Given the description of an element on the screen output the (x, y) to click on. 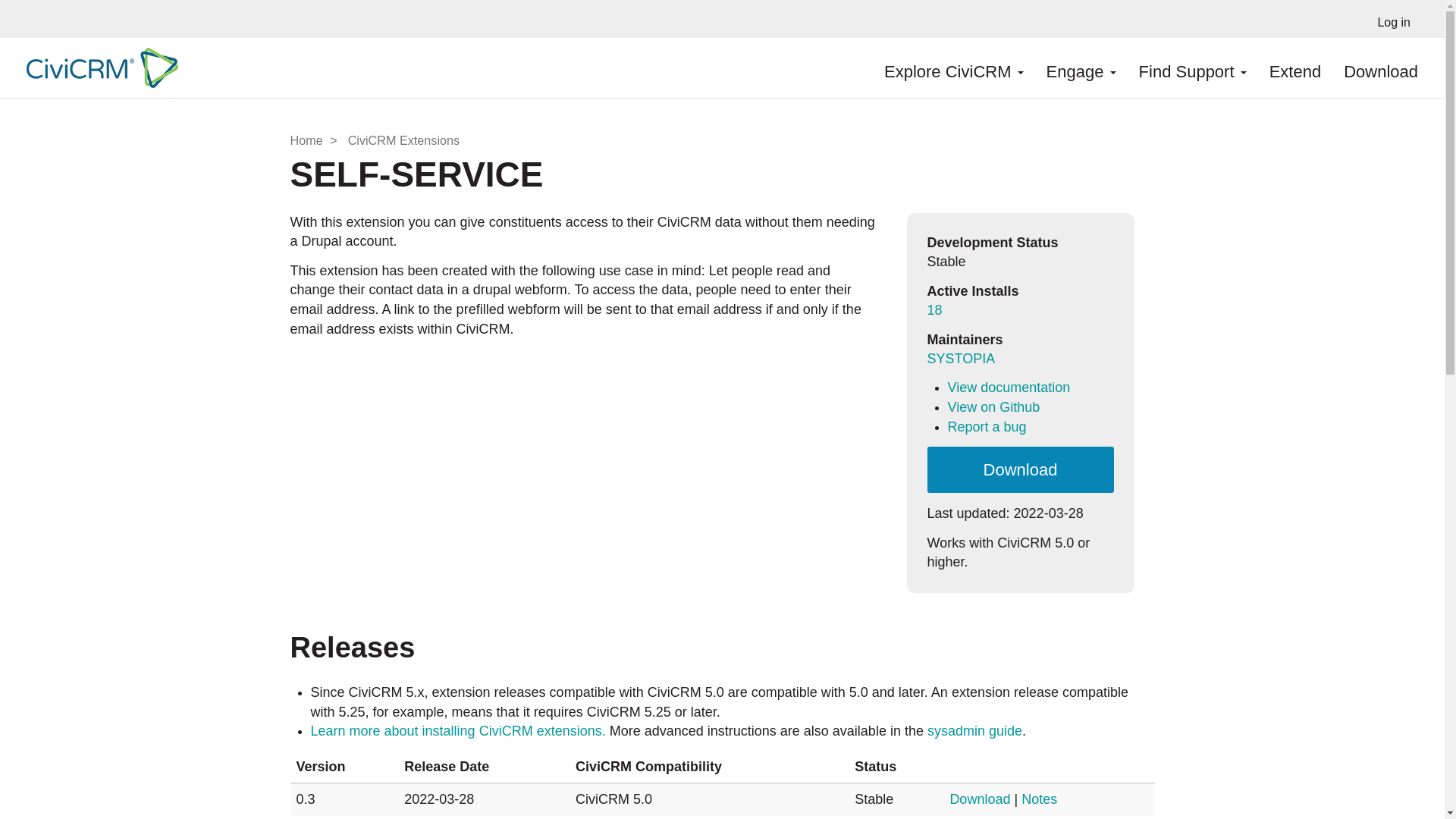
Find Support (1191, 67)
Download (1380, 67)
Engage (1080, 67)
Extend (1295, 67)
Explore CiviCRM (953, 67)
Home (97, 67)
Log in (1393, 18)
